Given the description of an element on the screen output the (x, y) to click on. 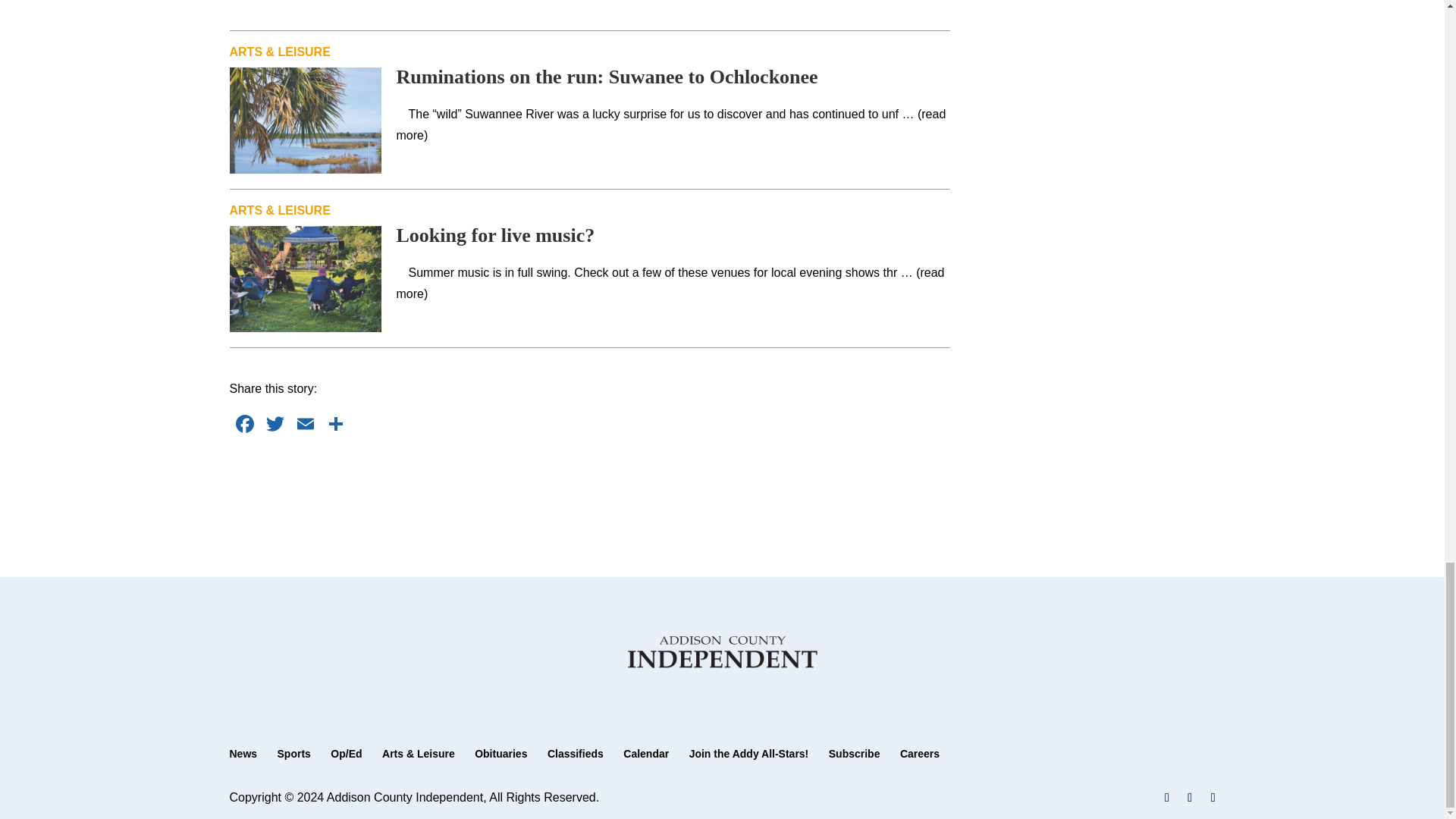
3rd party ad content (590, 3)
3rd party ad content (590, 486)
Email (304, 425)
Twitter (274, 425)
Facebook (243, 425)
